Given the description of an element on the screen output the (x, y) to click on. 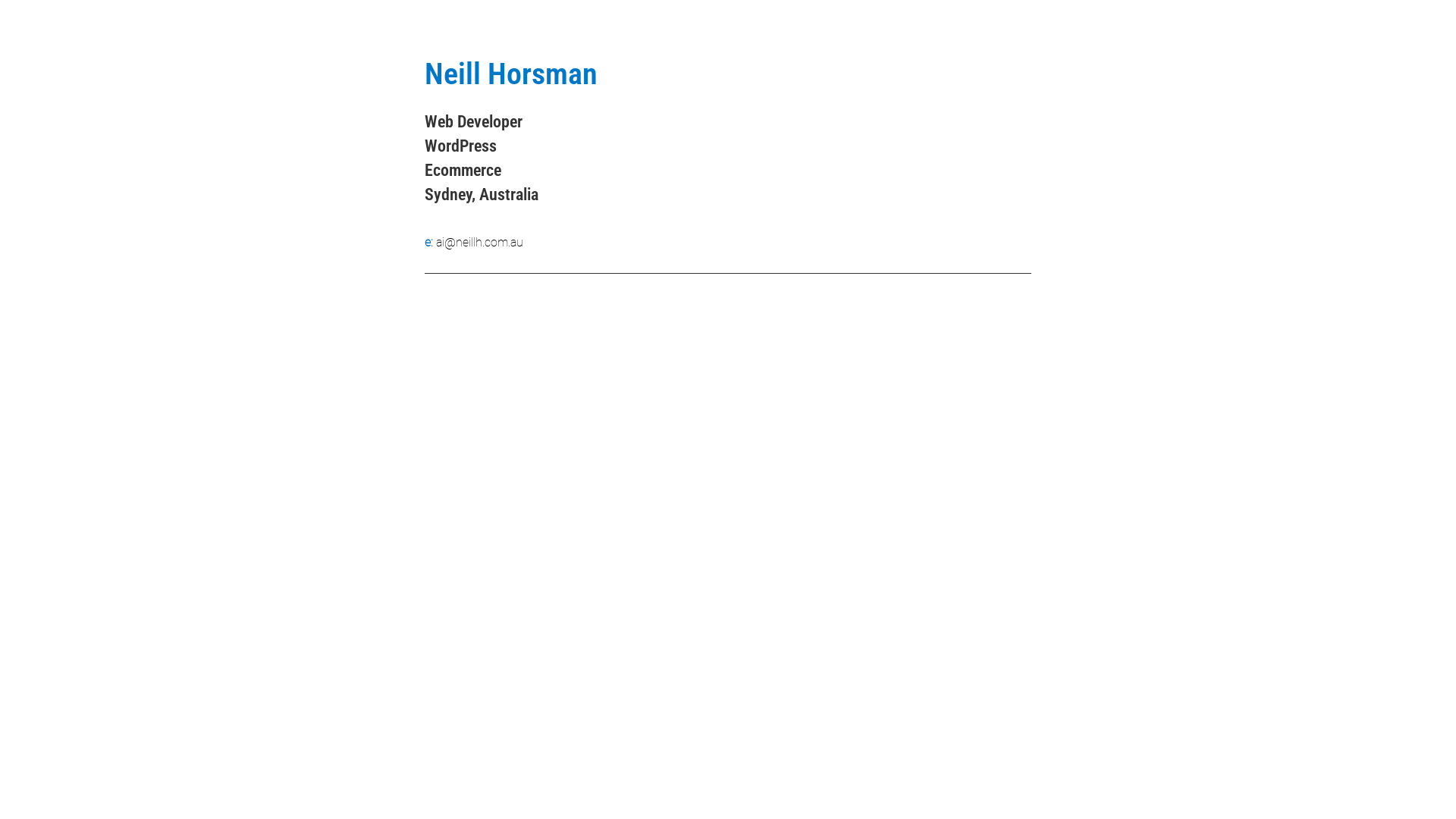
ai@neillh.com.au Element type: text (479, 242)
